Given the description of an element on the screen output the (x, y) to click on. 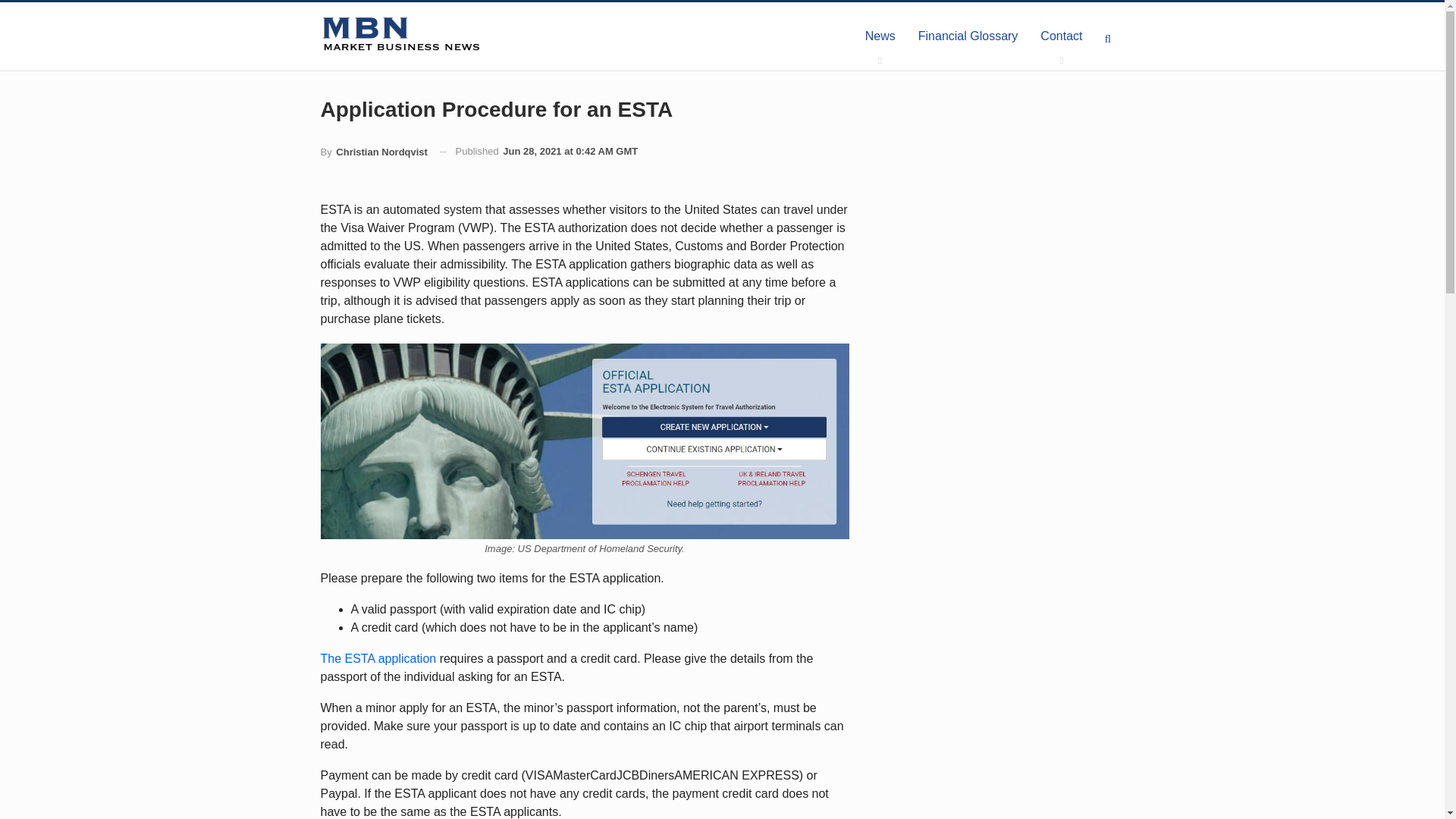
The ESTA application (377, 658)
Browse Author Articles (373, 152)
Financial Glossary (968, 36)
By Christian Nordqvist (373, 152)
Contact (1061, 36)
